Given the description of an element on the screen output the (x, y) to click on. 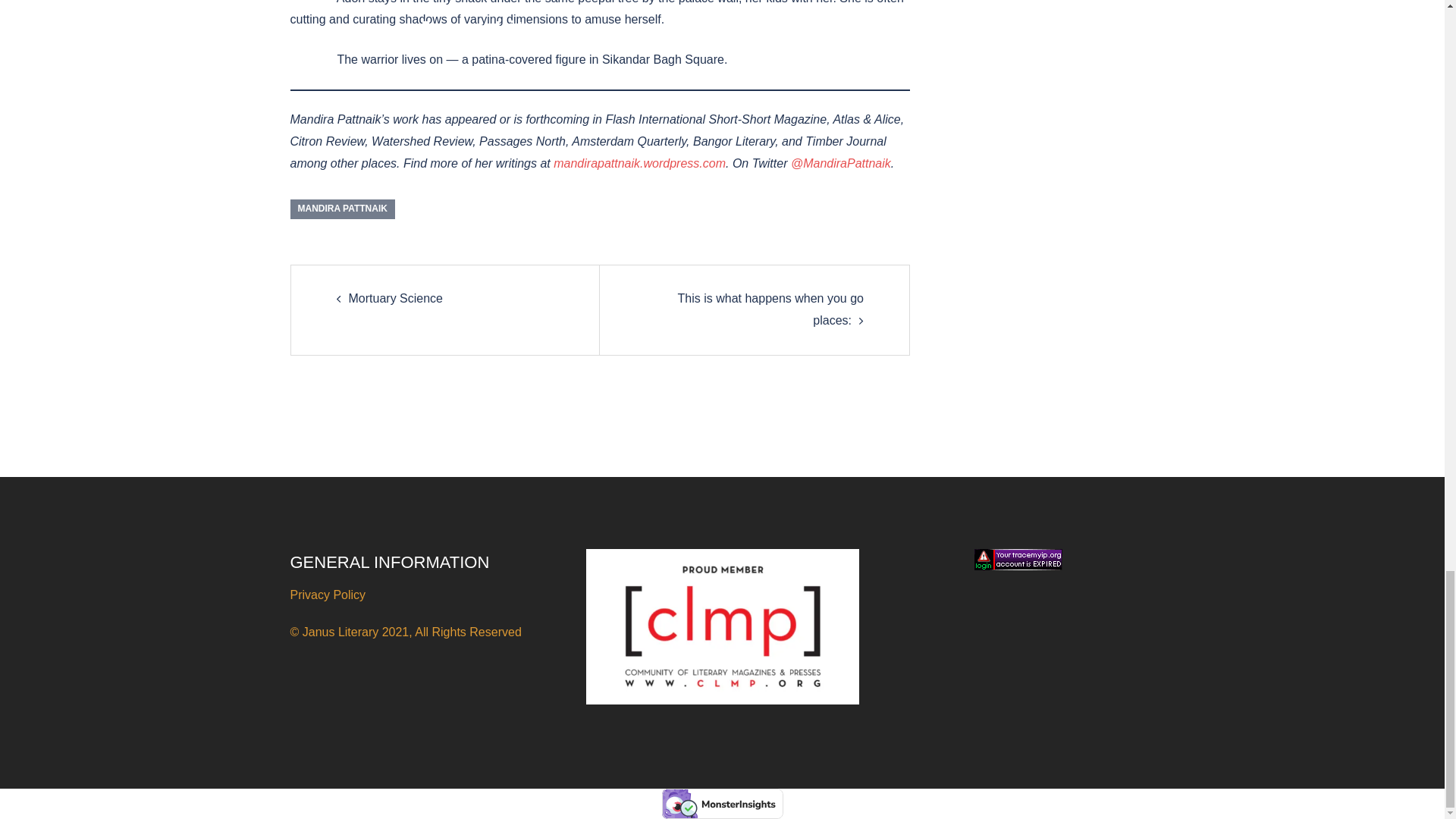
MANDIRA PATTNAIK (341, 209)
mandirapattnaik.wordpress.com (639, 163)
Privacy Policy (327, 594)
Mortuary Science (396, 297)
This is what happens when you go places: (770, 308)
